Given the description of an element on the screen output the (x, y) to click on. 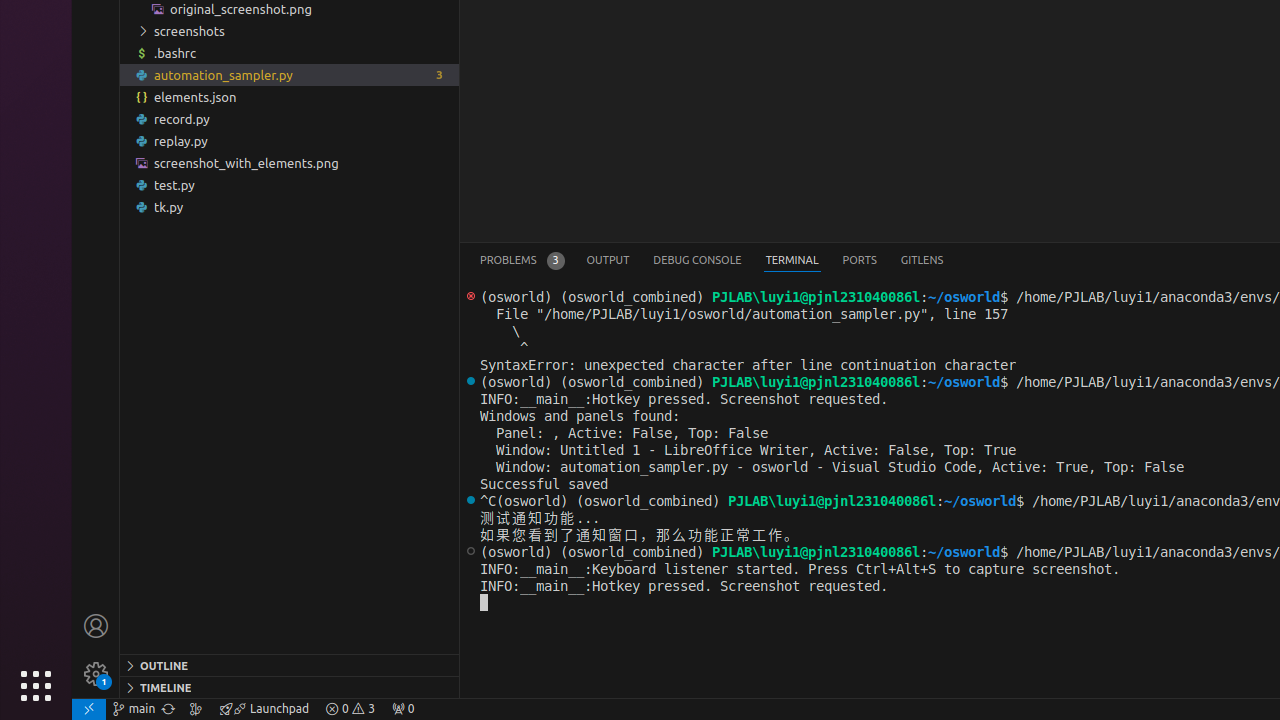
automation_sampler.py Element type: tree-item (289, 75)
Warnings: 3 Element type: push-button (350, 709)
OSWorld (Git) - Synchronize Changes Element type: push-button (168, 709)
Ports Element type: page-tab (859, 260)
test.py Element type: tree-item (289, 184)
